Given the description of an element on the screen output the (x, y) to click on. 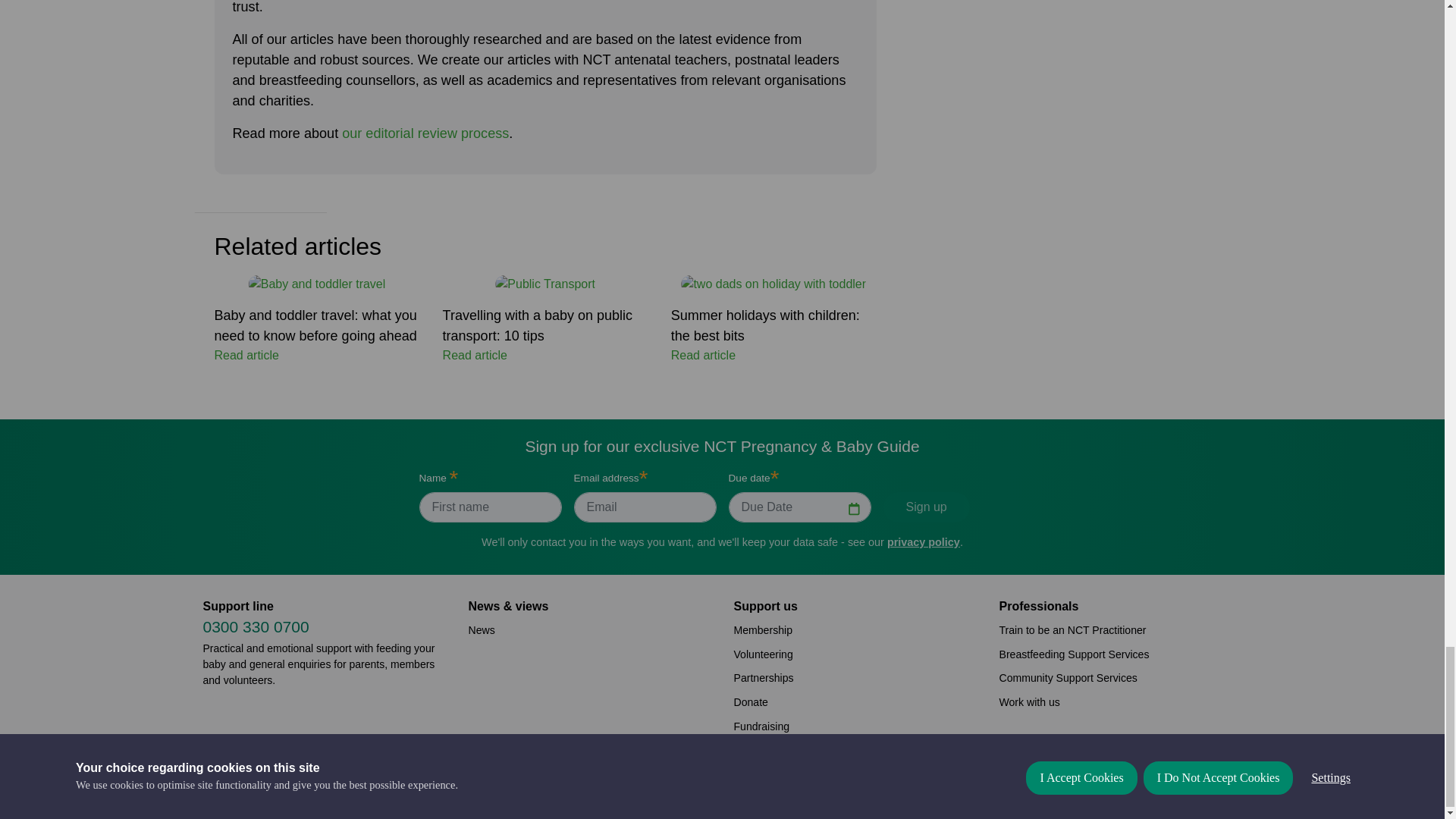
Sign up (925, 507)
